Given the description of an element on the screen output the (x, y) to click on. 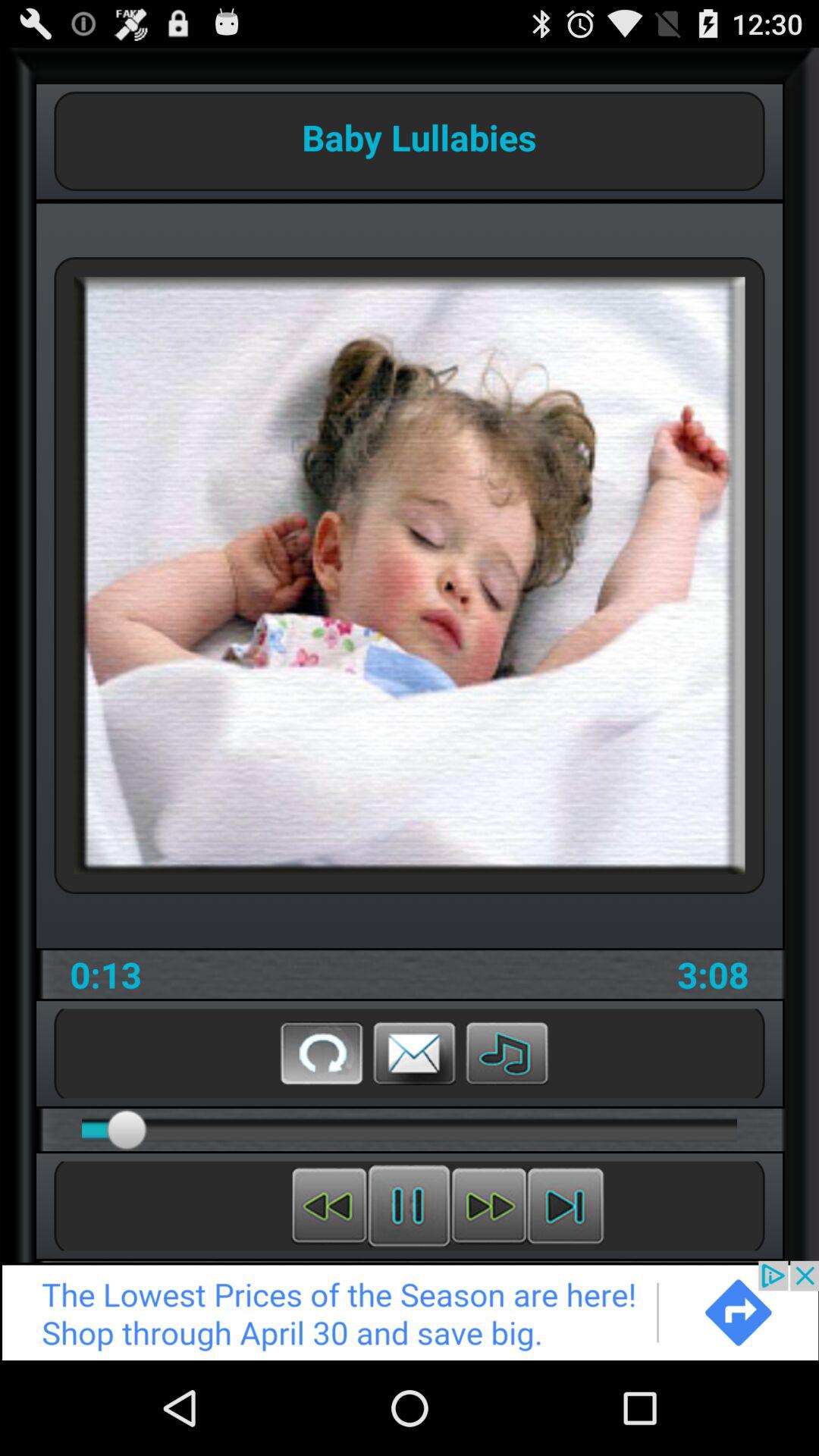
refresh the page (321, 1053)
